Given the description of an element on the screen output the (x, y) to click on. 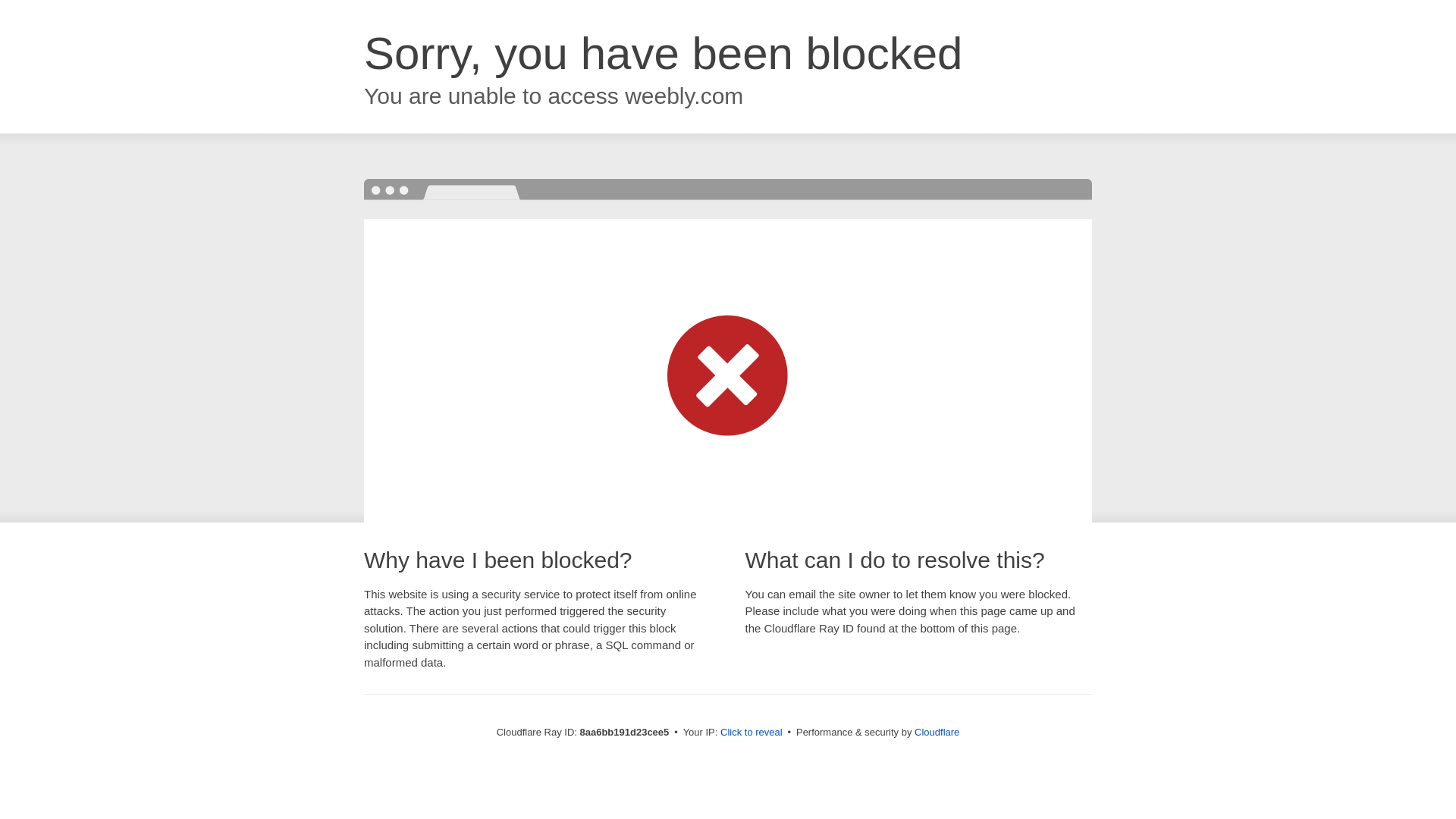
Cloudflare (936, 731)
Click to reveal (751, 732)
